Given the description of an element on the screen output the (x, y) to click on. 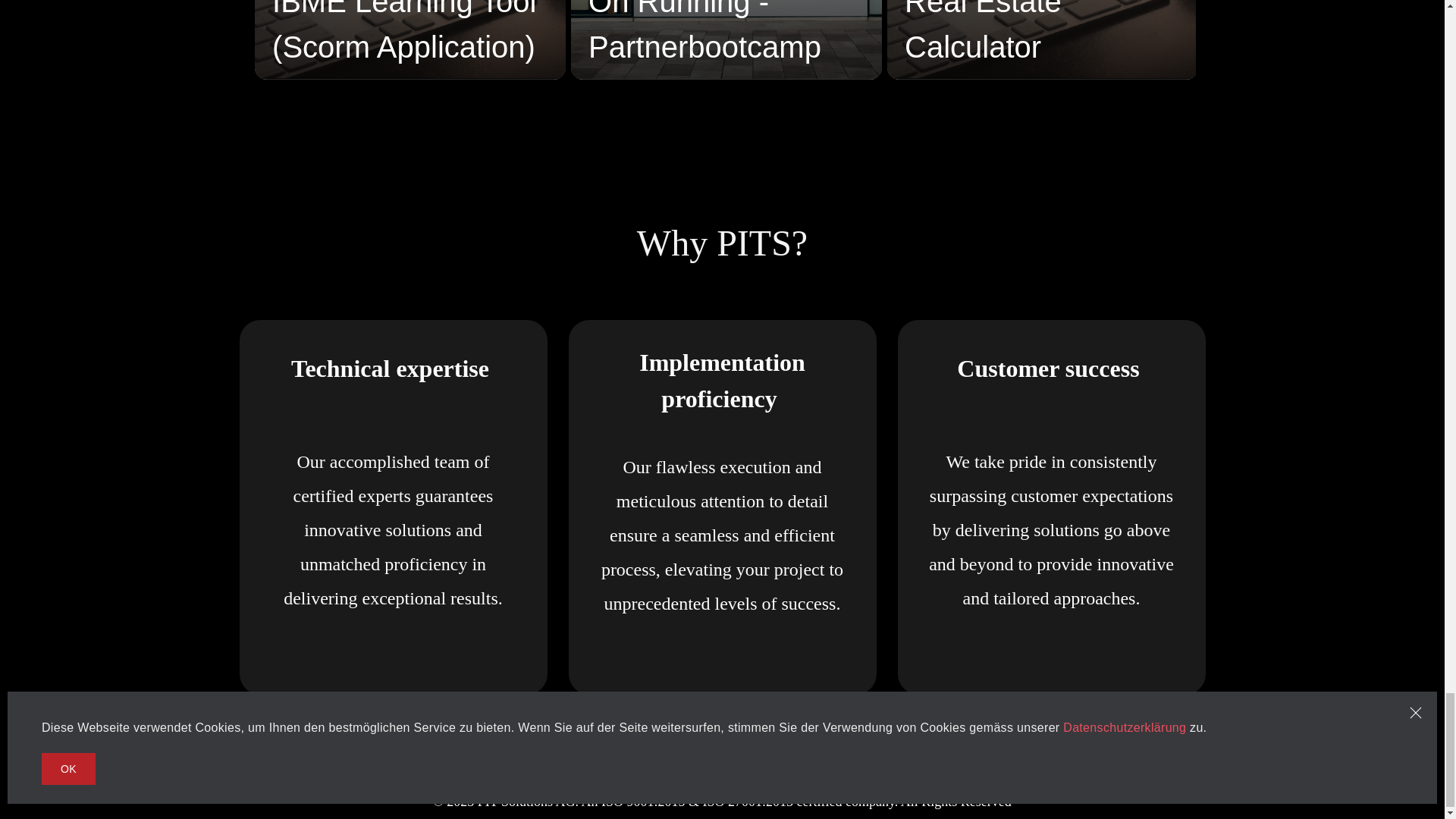
Real Estate Calculator (1042, 41)
On Running - Partnerbootcamp (726, 41)
